Given the description of an element on the screen output the (x, y) to click on. 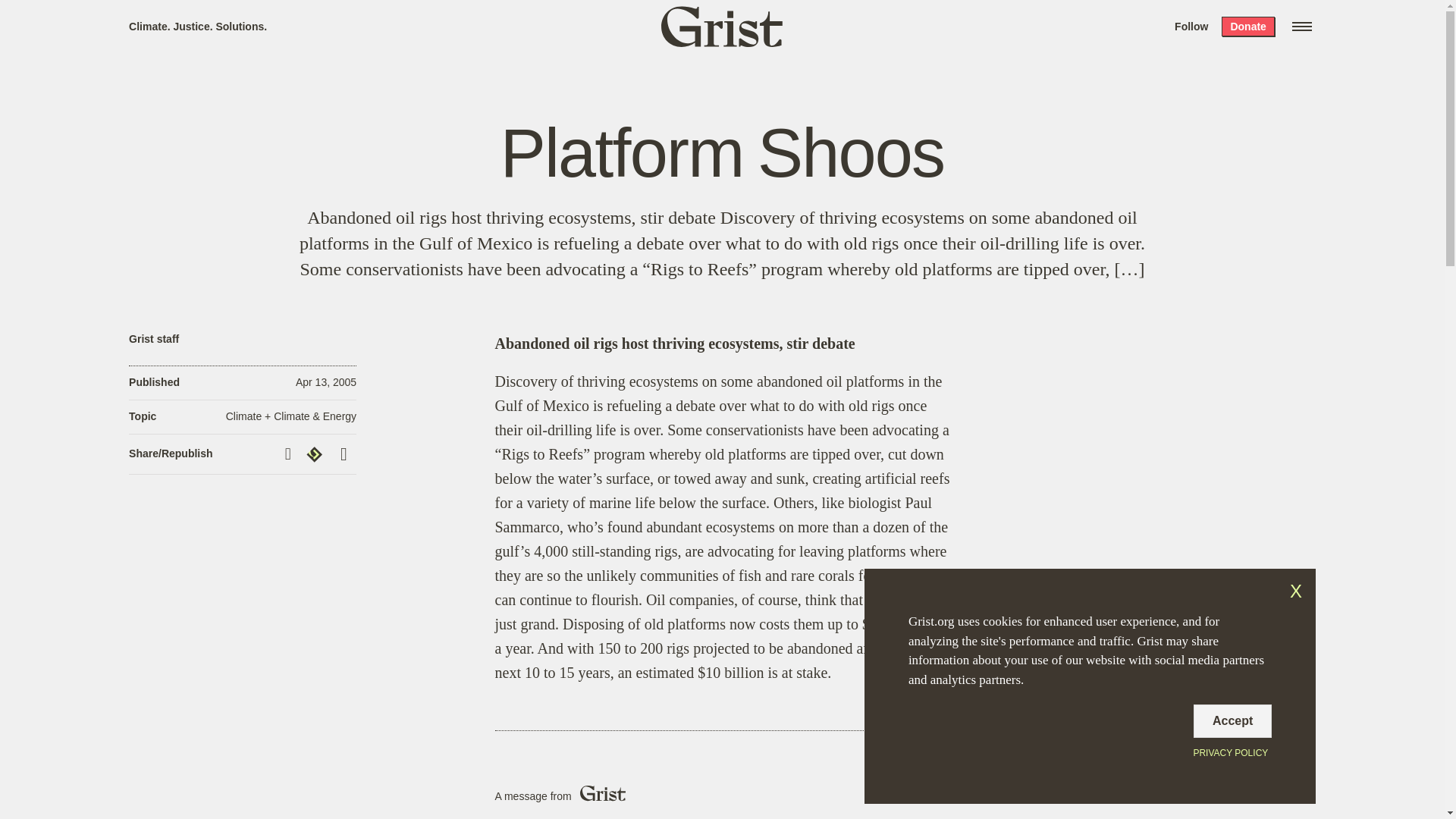
Follow (1191, 26)
Grist staff (154, 338)
Donate (1247, 26)
Search (227, 18)
Copy article link (289, 453)
Accept (1232, 720)
Grist home (722, 25)
Republish the article (316, 454)
